Given the description of an element on the screen output the (x, y) to click on. 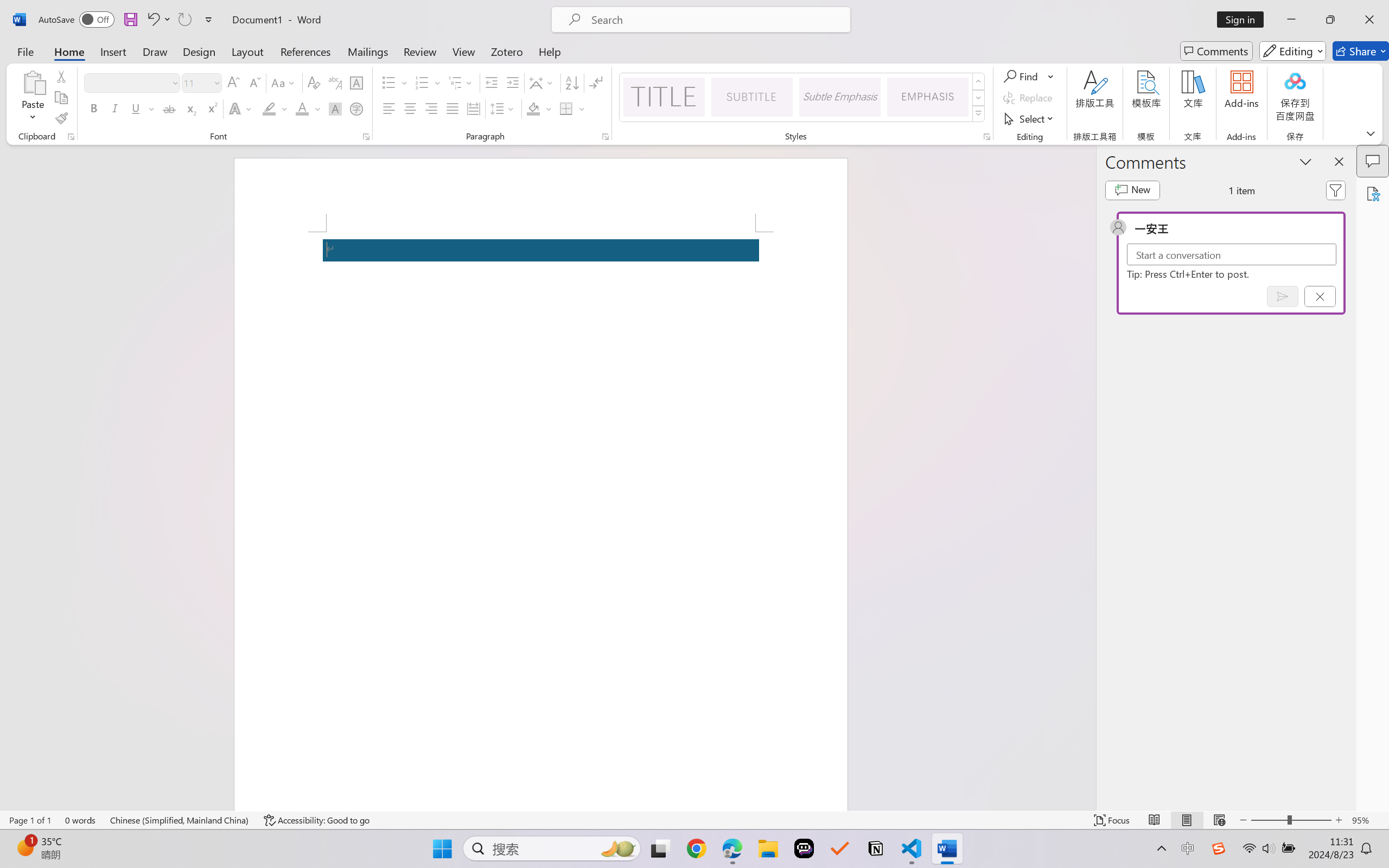
Title (663, 96)
